Given the description of an element on the screen output the (x, y) to click on. 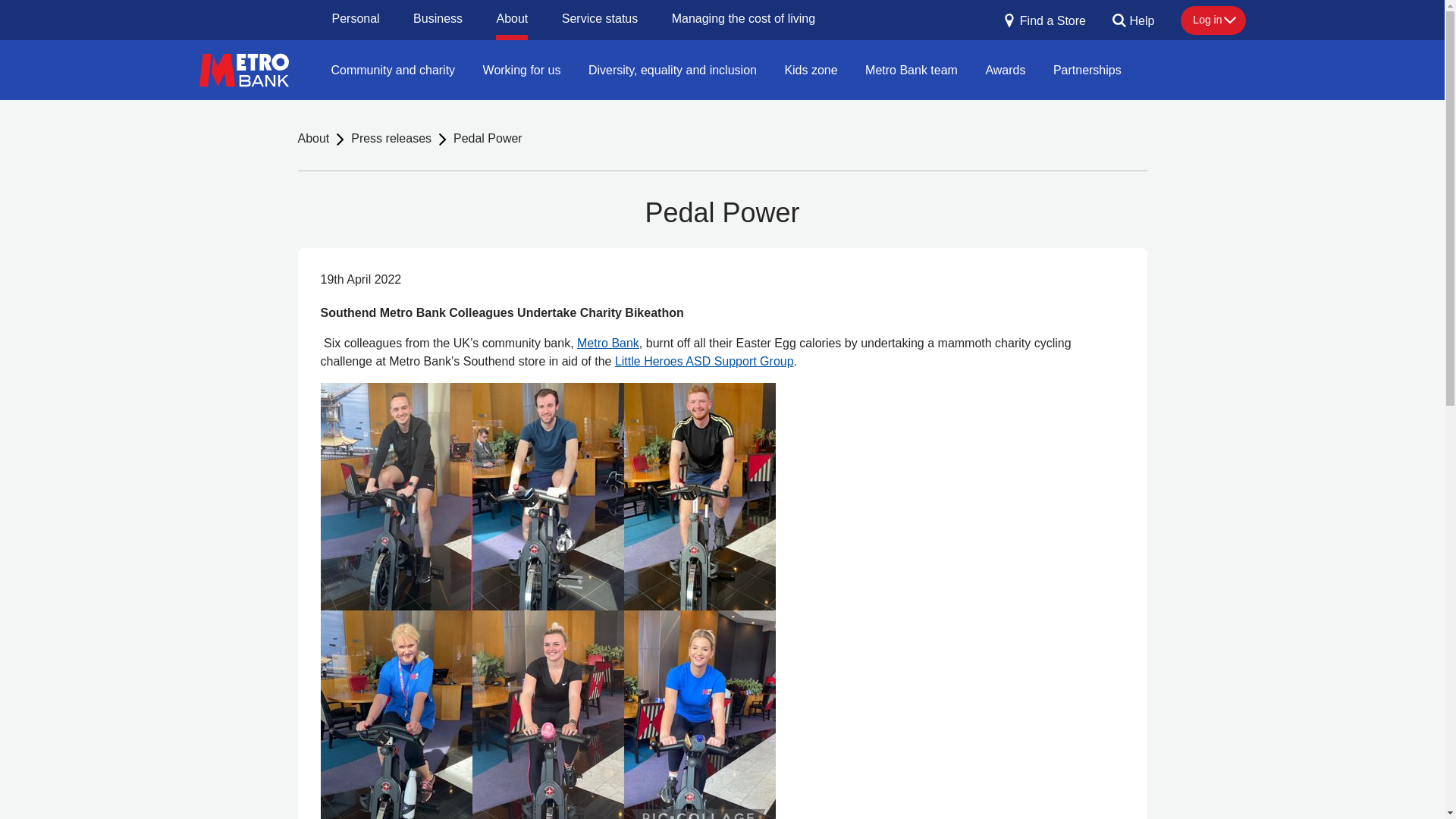
Metro Bank (607, 342)
Community and charity (392, 69)
Service status (599, 20)
Diversity, equality and inclusion (672, 69)
Kids zone (809, 69)
Managing the cost of living (743, 20)
Log in (1212, 20)
Help (1133, 26)
Find a Store (1044, 26)
Working for us (521, 69)
Little Heroes ASD Support Group (703, 360)
Partnerships (1087, 69)
Awards (1004, 69)
Business (438, 20)
About (313, 139)
